Given the description of an element on the screen output the (x, y) to click on. 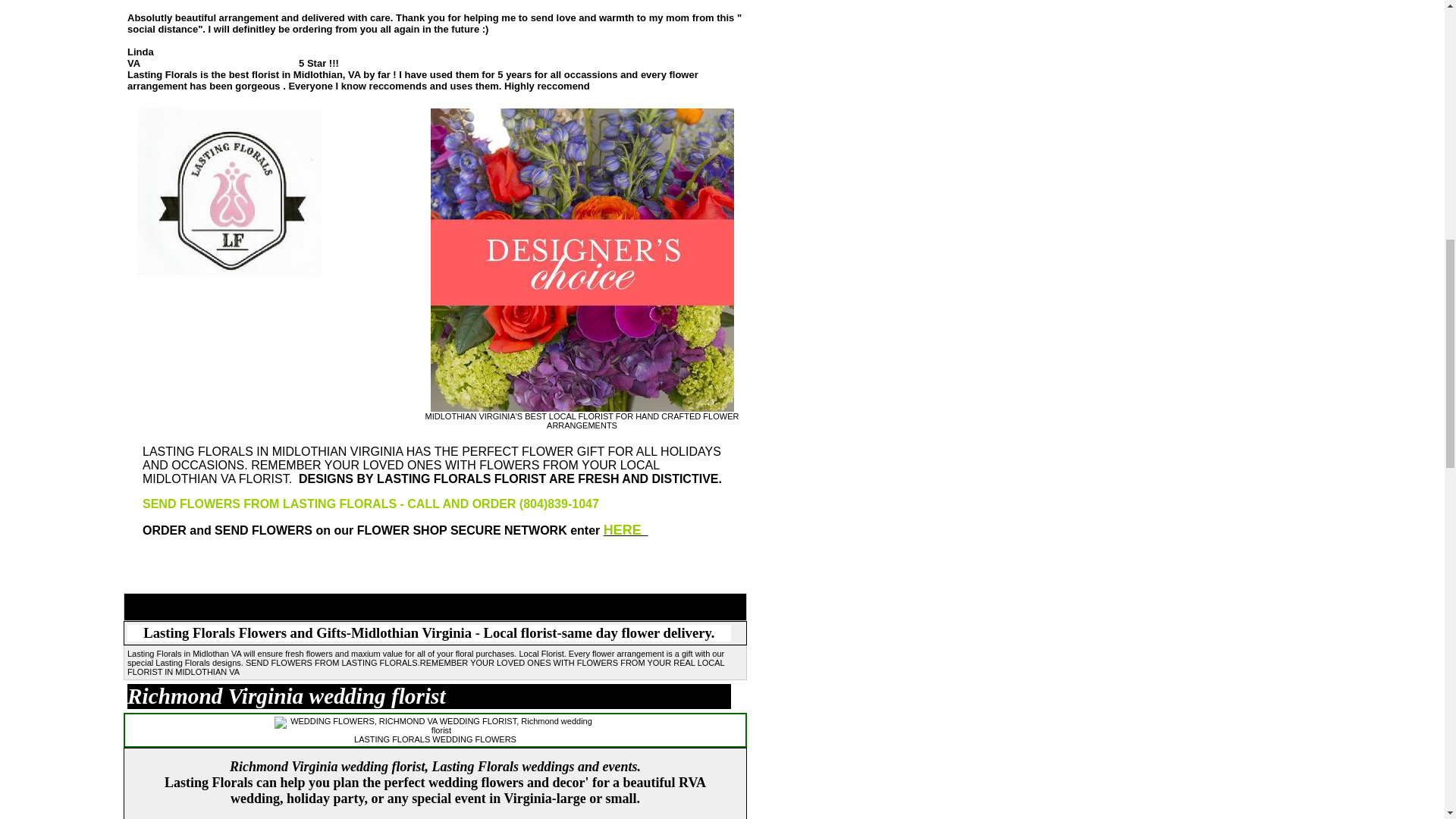
HERE   (625, 531)
